Given the description of an element on the screen output the (x, y) to click on. 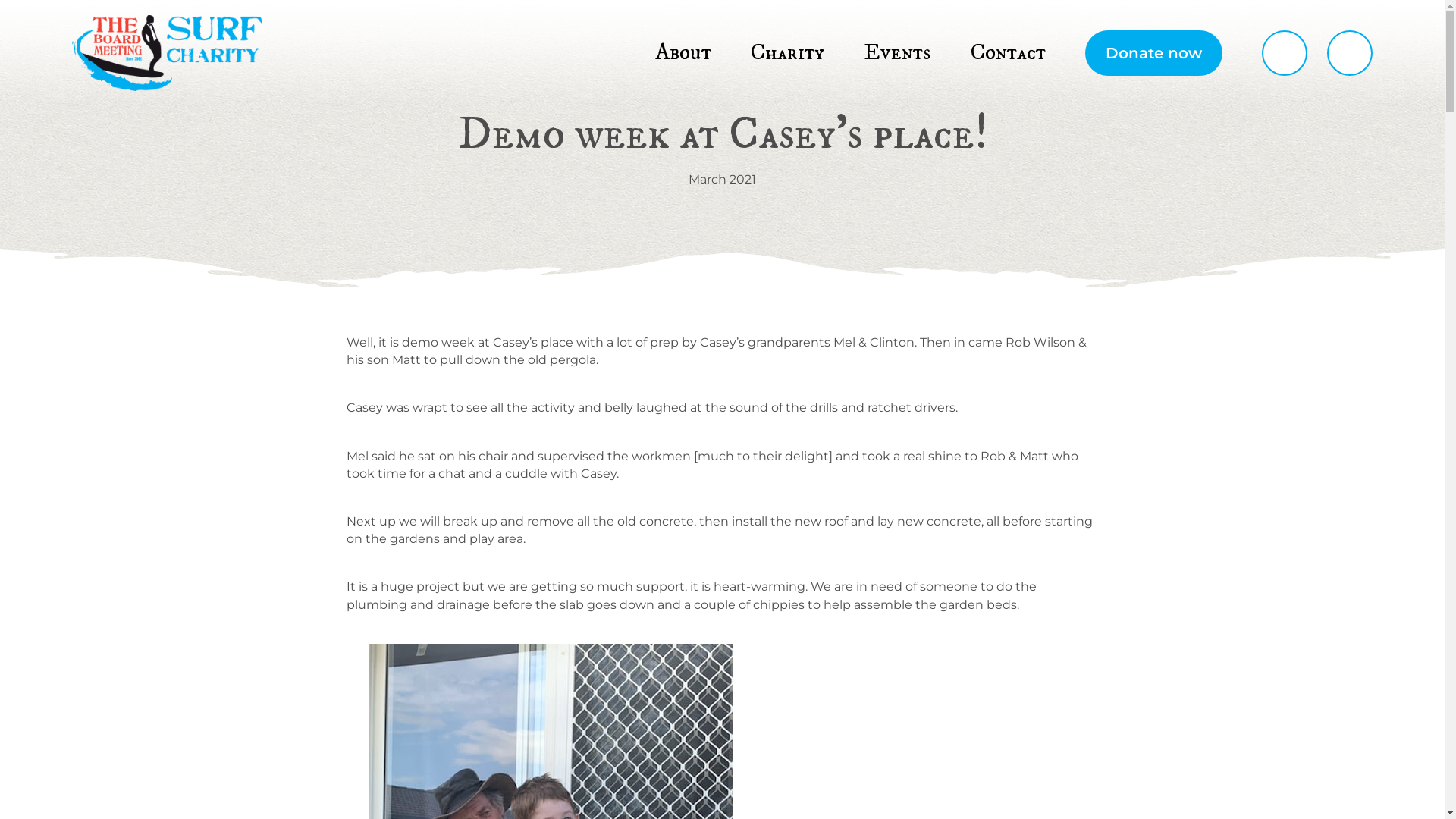
Donate Element type: text (1297, 538)
The Board Meeting Element type: text (166, 53)
The Board Meeting Element type: text (217, 582)
Privacy Policy Element type: text (1340, 800)
Fins for kids Element type: text (996, 592)
Events Element type: text (1142, 511)
Contact Element type: text (1297, 511)
Gold Coast Chapter Element type: text (816, 645)
Facebook Element type: text (1284, 736)
Charity Element type: text (787, 52)
About Element type: text (816, 511)
Donate now Element type: text (1153, 52)
Instagram Element type: text (1349, 52)
Funding families Element type: text (996, 538)
Who we are Element type: text (816, 538)
Instagram Element type: text (1349, 736)
Past Events Element type: text (1142, 538)
Events Element type: text (897, 52)
Sponsors Element type: text (816, 592)
Northern Rivers Chapter Element type: text (816, 671)
The Guardian Program Element type: text (996, 565)
Contact Element type: text (1007, 52)
About Element type: text (683, 52)
News Element type: text (816, 618)
How you can help Element type: text (816, 565)
Facebook Element type: text (1284, 52)
Other helpful organisations Element type: text (1297, 565)
Free disability equipment Element type: text (996, 618)
Charity Element type: text (996, 511)
